Given the description of an element on the screen output the (x, y) to click on. 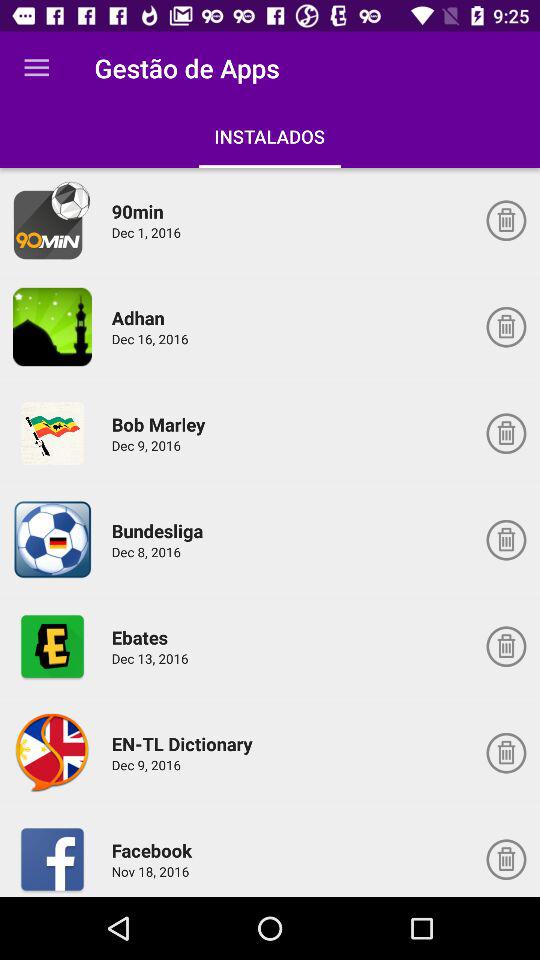
delete app (505, 327)
